Given the description of an element on the screen output the (x, y) to click on. 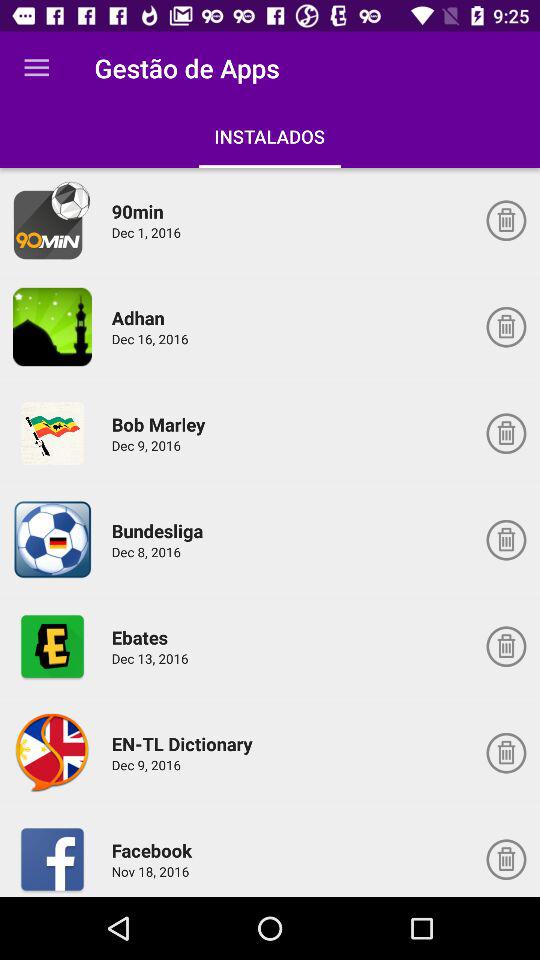
delete app (505, 327)
